Given the description of an element on the screen output the (x, y) to click on. 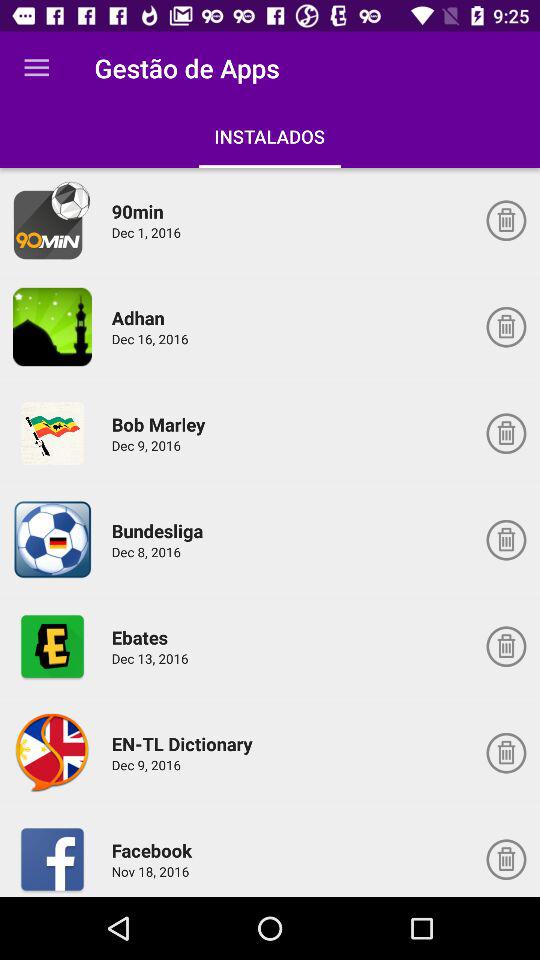
delete app (505, 327)
